Given the description of an element on the screen output the (x, y) to click on. 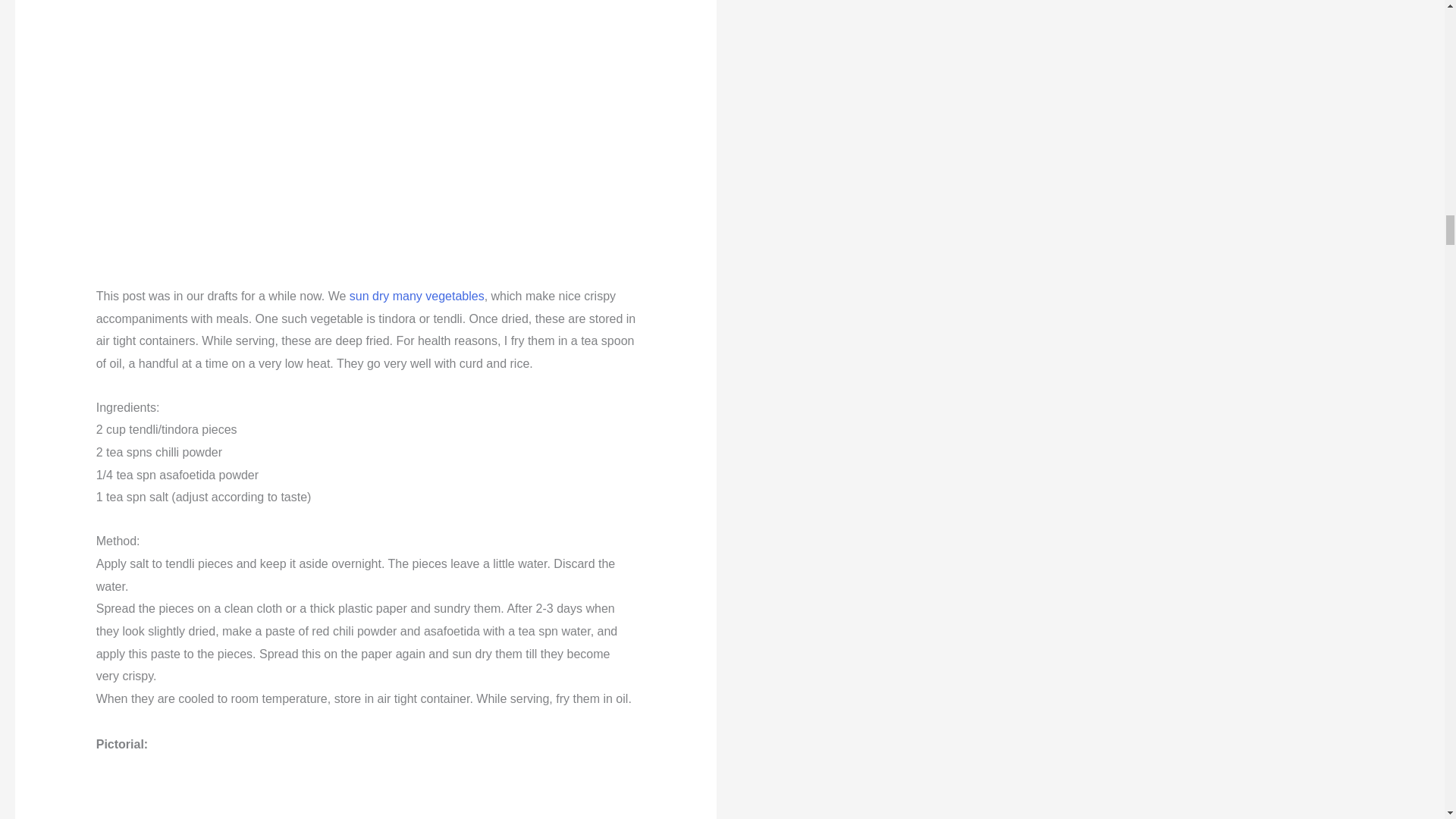
tendli kachri1 (365, 787)
tendli kachri (365, 131)
